Given the description of an element on the screen output the (x, y) to click on. 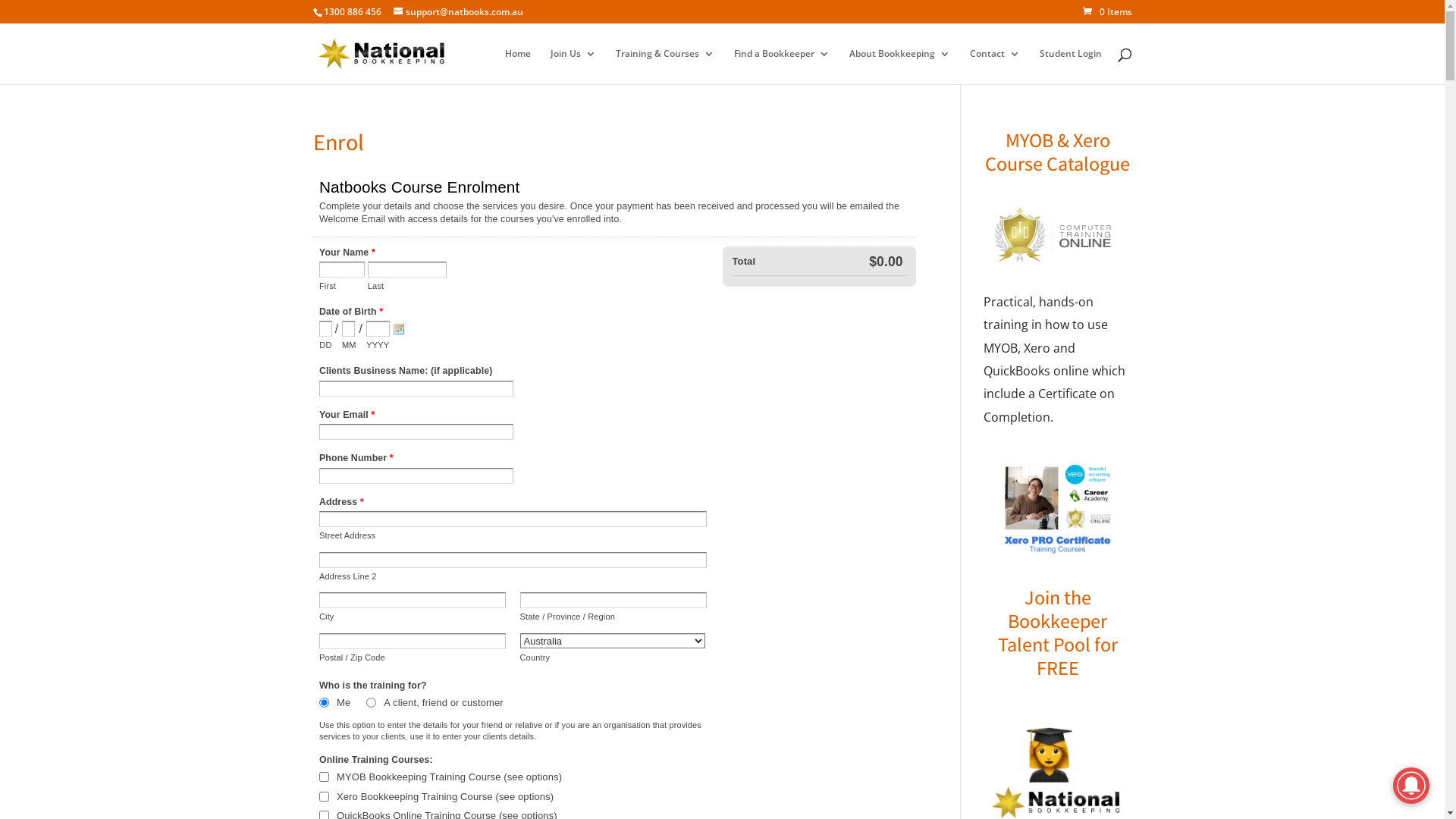
Home Element type: text (517, 66)
Find a Bookkeeper Element type: text (781, 66)
Contact Element type: text (994, 66)
Training & Courses Element type: text (664, 66)
About Bookkeeping Element type: text (899, 66)
Join Us Element type: text (573, 66)
Student Login Element type: text (1069, 66)
support@natbooks.com.au Element type: text (457, 11)
0 Items Element type: text (1107, 11)
